Given the description of an element on the screen output the (x, y) to click on. 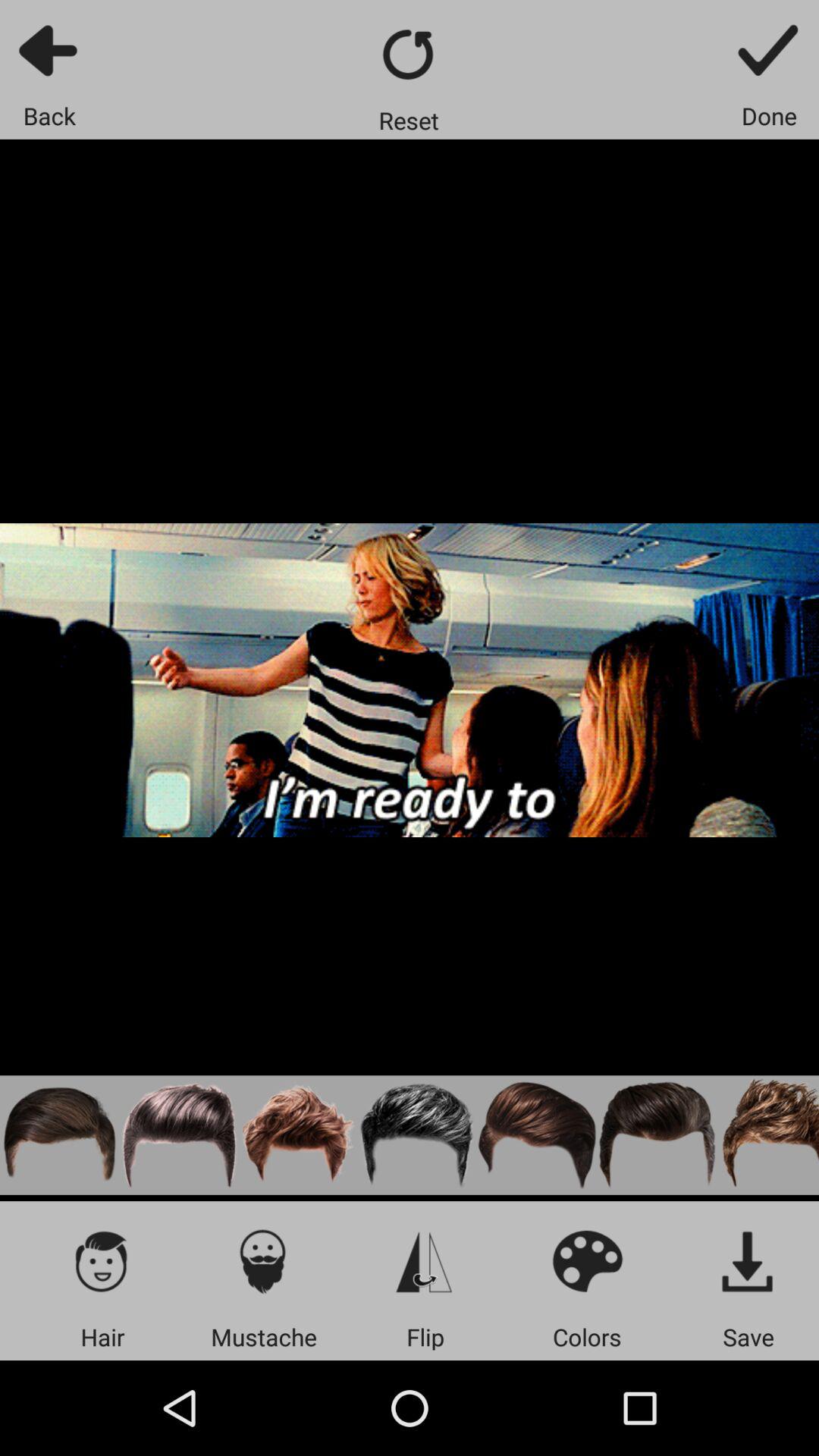
flip (425, 1260)
